Given the description of an element on the screen output the (x, y) to click on. 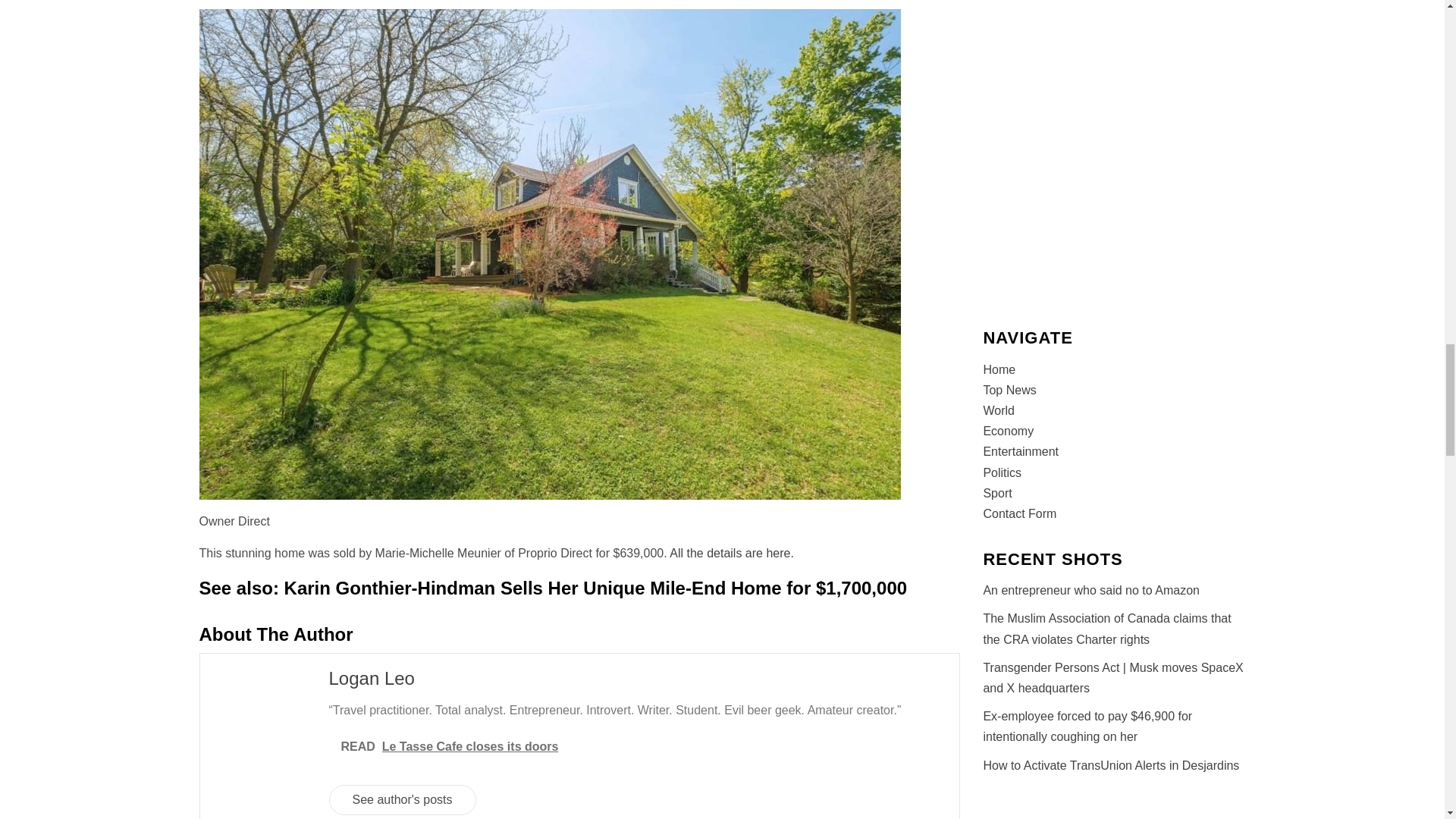
All the details are here. (729, 553)
See author's posts (402, 799)
Logan Leo (371, 678)
READ  Le Tasse Cafe closes its doors (644, 746)
